Given the description of an element on the screen output the (x, y) to click on. 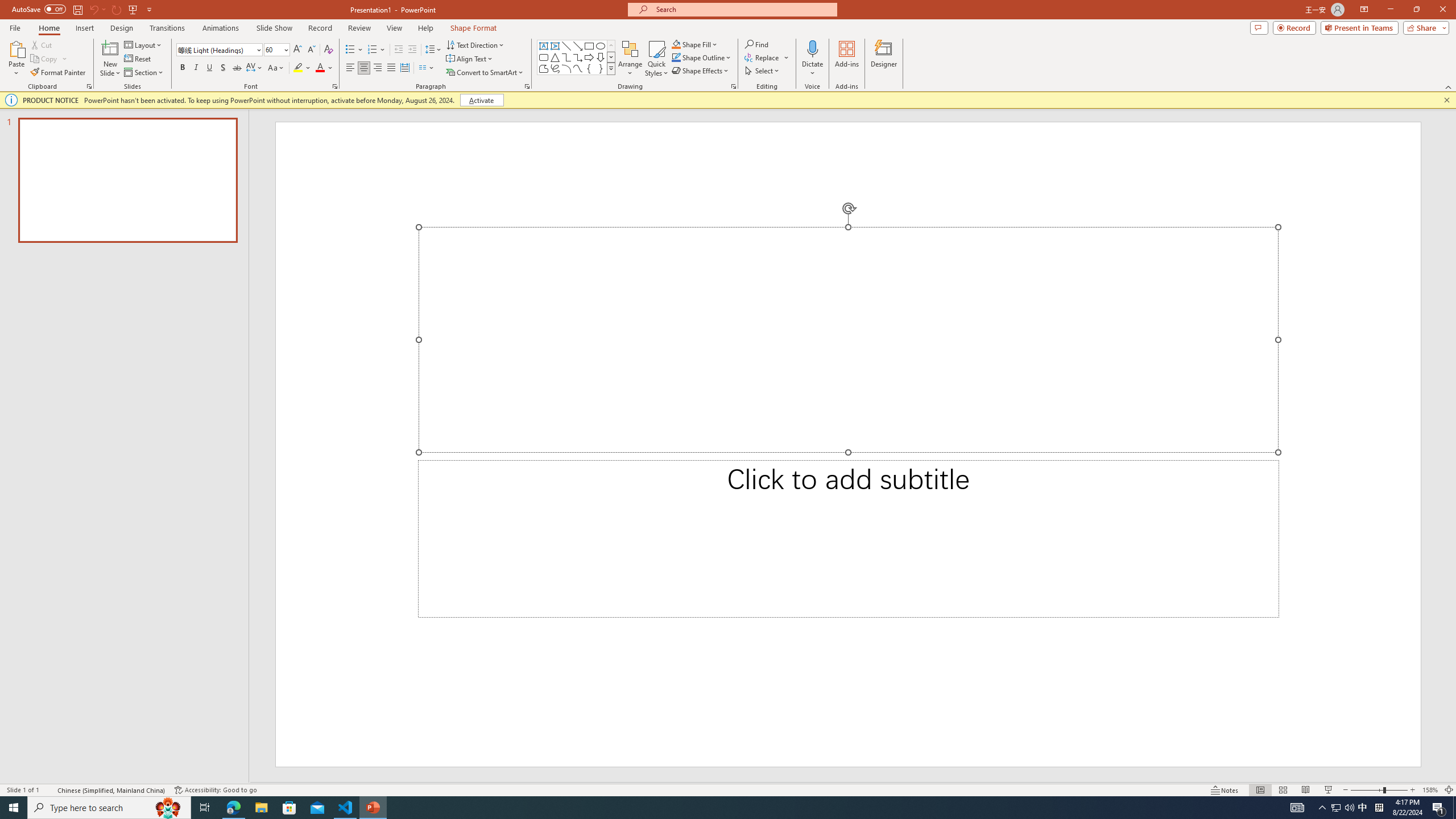
Shape Fill Orange, Accent 2 (675, 44)
Review (359, 28)
Animations (220, 28)
Ribbon Display Options (1364, 9)
Freeform: Scribble (554, 68)
Layout (143, 44)
Arrange (630, 58)
Copy (45, 58)
Rectangle: Rounded Corners (543, 57)
Spell Check  (49, 790)
New Slide (110, 58)
Zoom Out (1367, 790)
Change Case (276, 67)
Select (762, 69)
